Given the description of an element on the screen output the (x, y) to click on. 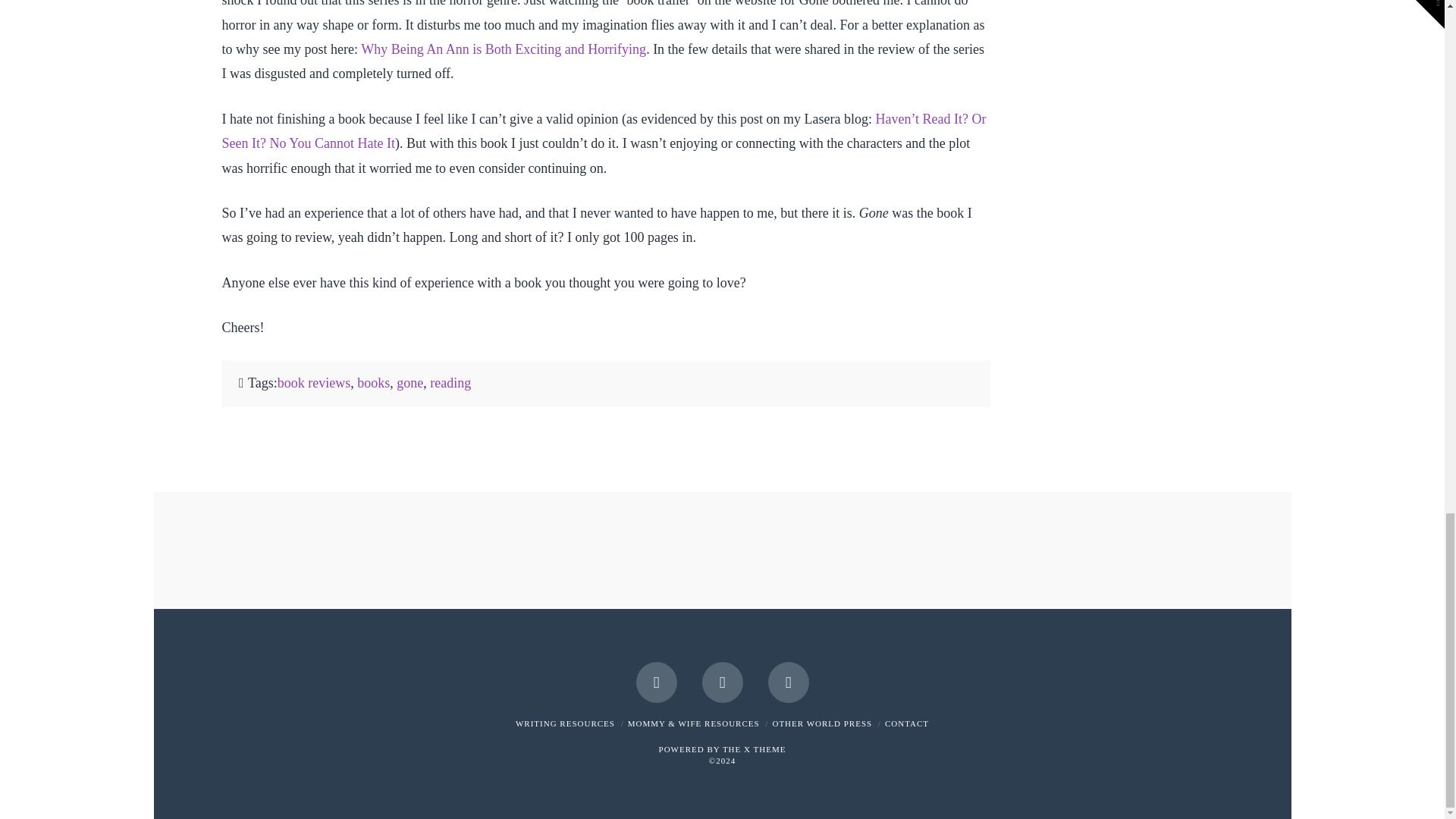
Why Being An Ann is Both Exciting and Horrifying (503, 48)
Facebook (655, 681)
LinkedIn (721, 681)
book reviews (314, 382)
Instagram (787, 681)
